Given the description of an element on the screen output the (x, y) to click on. 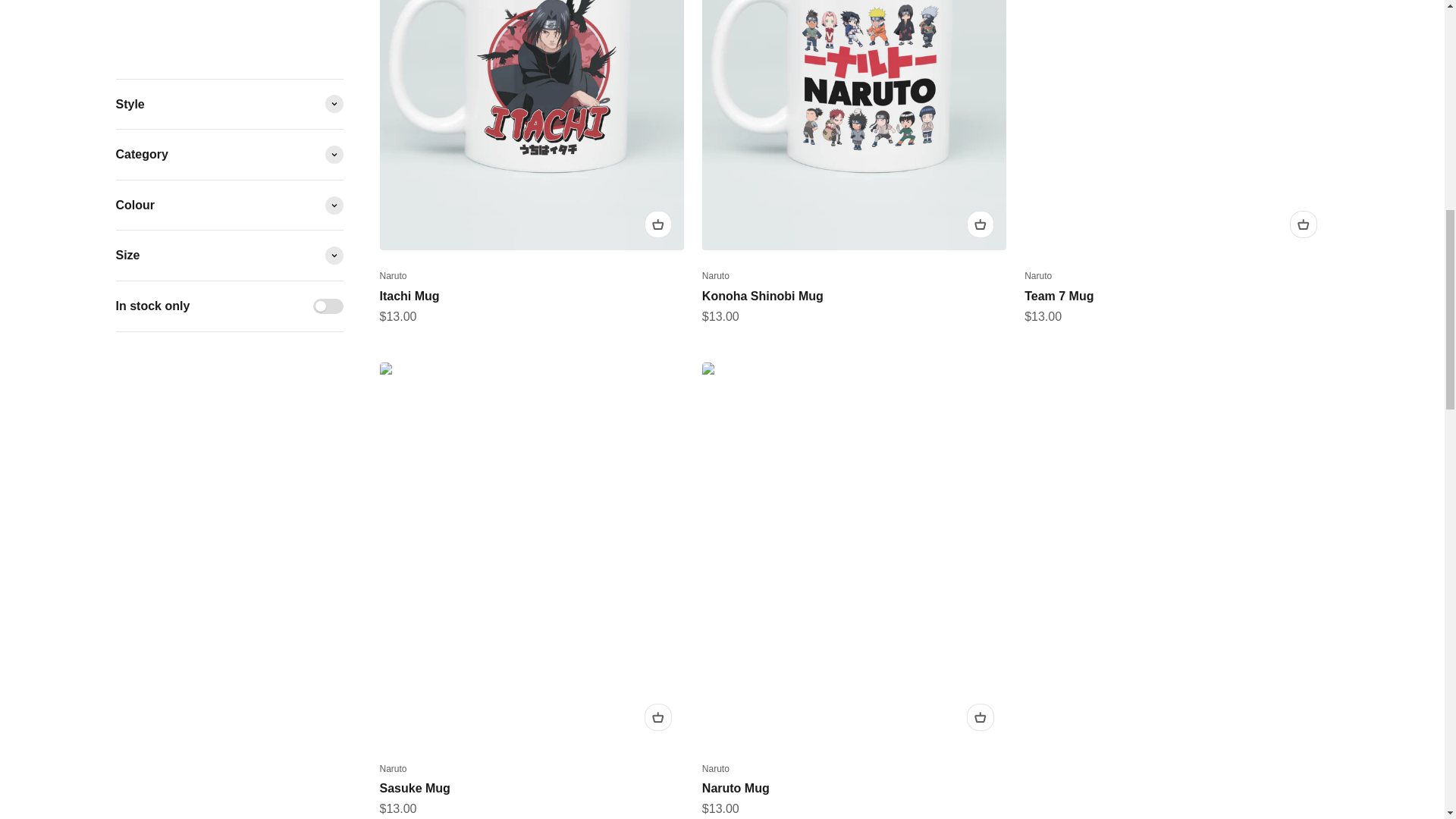
1 (327, 97)
